Given the description of an element on the screen output the (x, y) to click on. 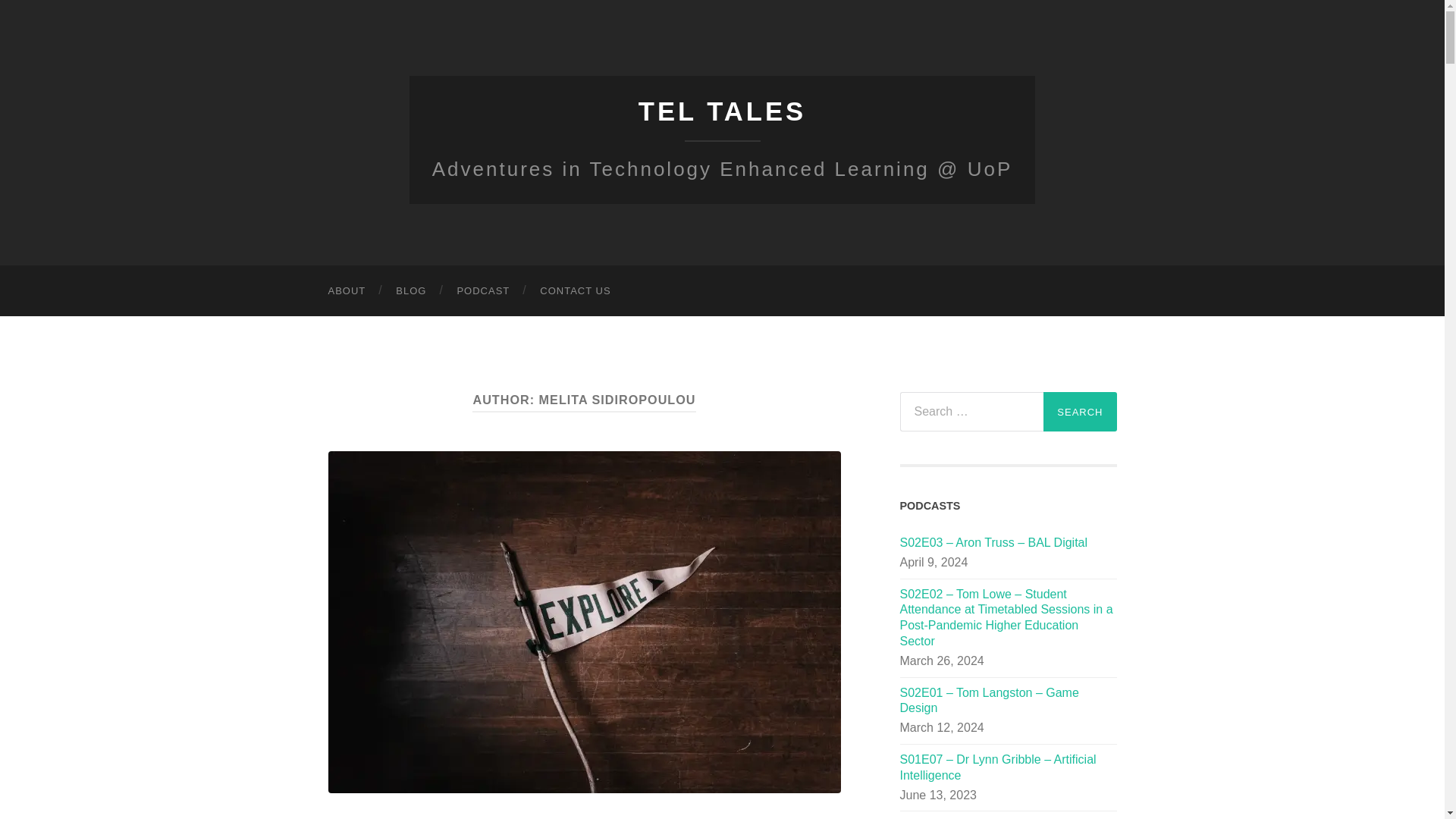
BLOG (410, 290)
Search (1079, 411)
CONTACT US (575, 290)
PODCAST (482, 290)
Search (1079, 411)
TEL TALES (722, 111)
ABOUT (346, 290)
